Given the description of an element on the screen output the (x, y) to click on. 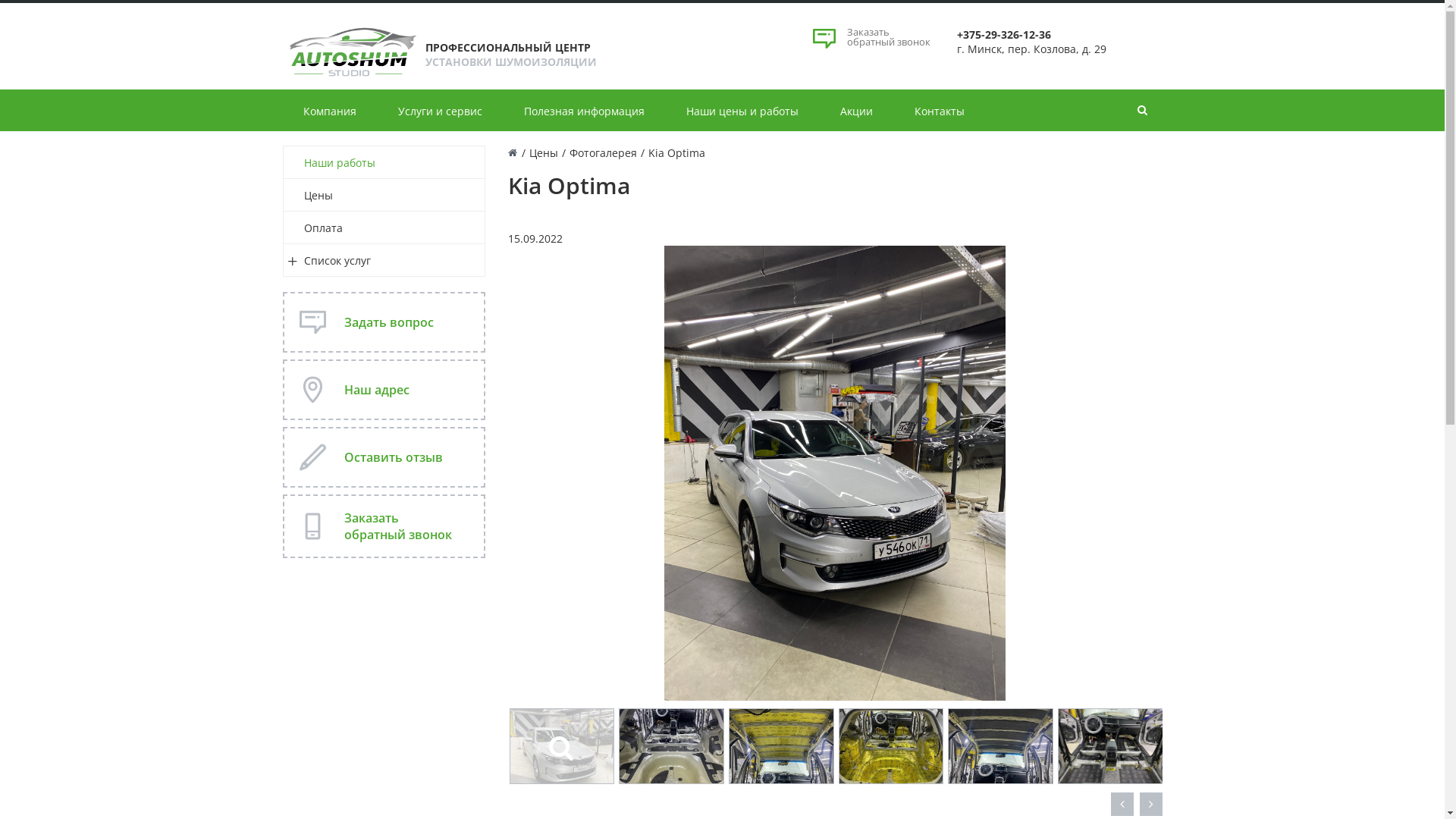
Kia Optima Element type: hover (834, 471)
+375-29-326-12-36 Element type: text (1004, 34)
Kia Optima Element type: hover (834, 472)
